Given the description of an element on the screen output the (x, y) to click on. 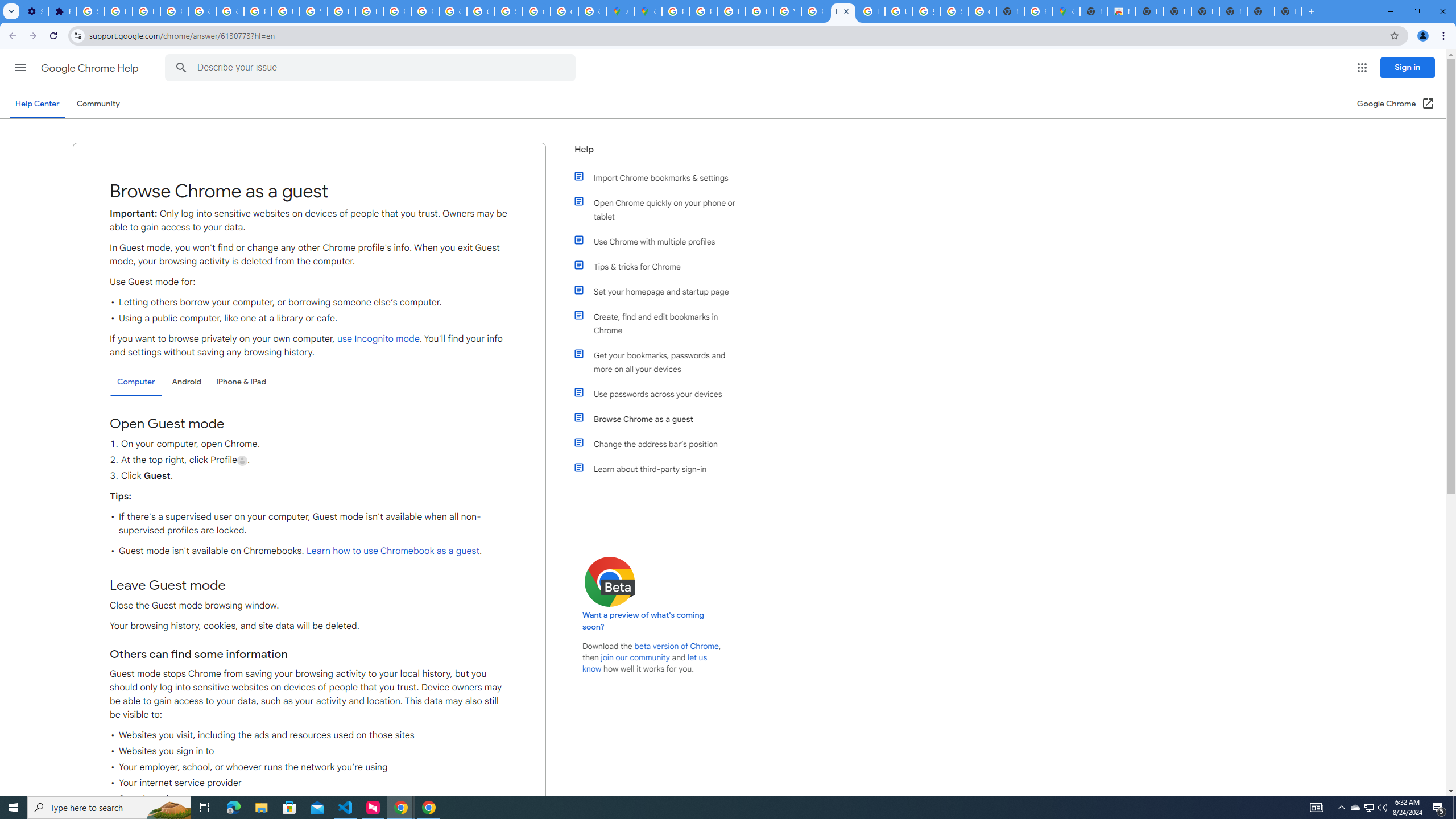
Google Account Help (202, 11)
Google Maps (1065, 11)
Learn about third-party sign-in (661, 469)
New Tab (1093, 11)
